Given the description of an element on the screen output the (x, y) to click on. 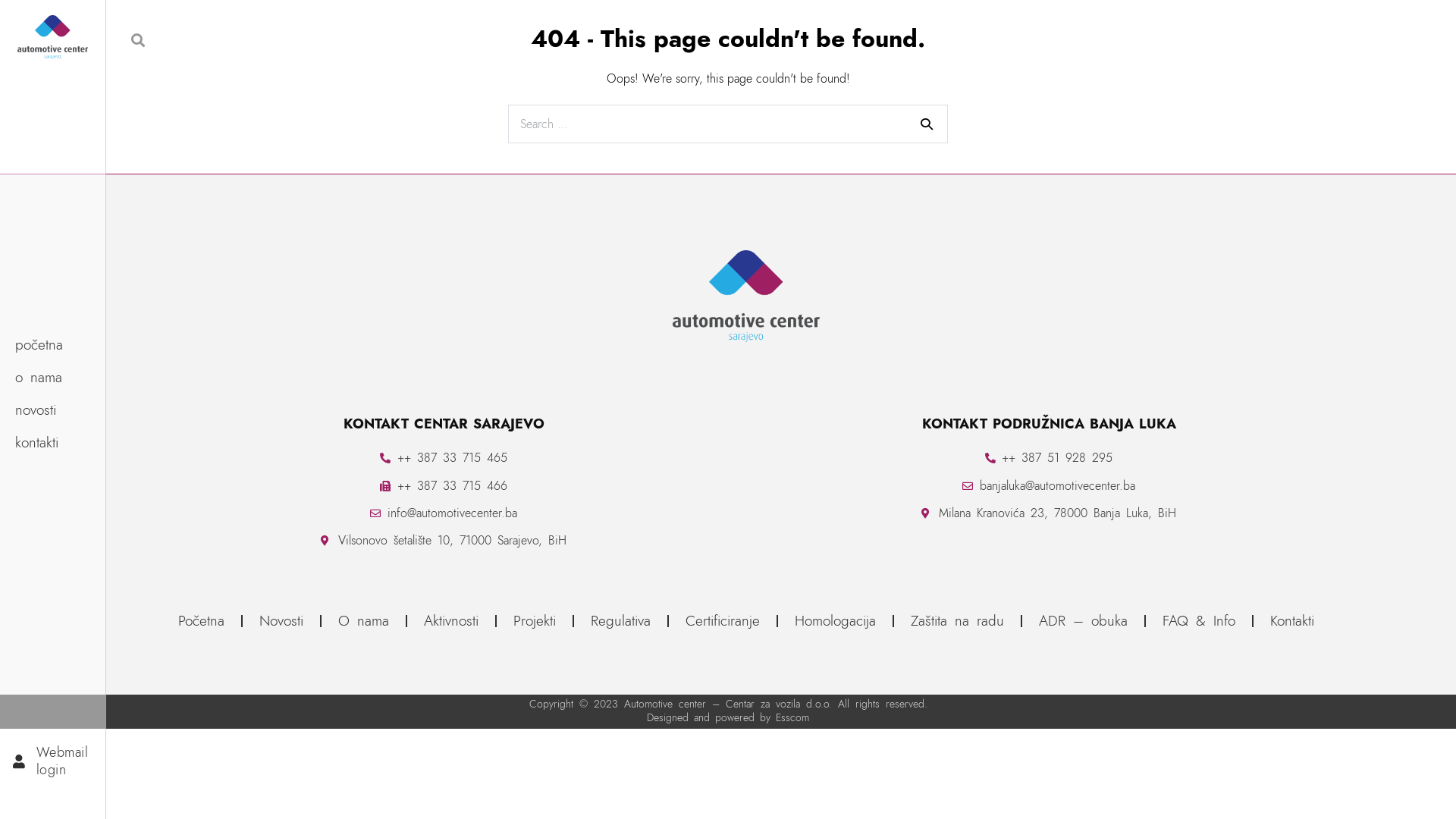
Regulativa Element type: text (620, 620)
++ 387 33 715 466 Element type: text (443, 485)
info@automotivecenter.ba Element type: text (443, 512)
novosti Element type: text (57, 409)
Novosti Element type: text (281, 620)
Kontakti Element type: text (1292, 620)
++ 387 51 928 295 Element type: text (1048, 457)
Search Element type: text (926, 123)
FAQ & Info Element type: text (1198, 620)
Certificiranje Element type: text (722, 620)
Webmail
login Element type: text (48, 760)
O nama Element type: text (363, 620)
kontakti Element type: text (57, 442)
Homologacija Element type: text (834, 620)
++ 387 33 715 465 Element type: text (443, 457)
Esscom Element type: text (792, 716)
Aktivnosti Element type: text (451, 620)
o nama Element type: text (57, 376)
Projekti Element type: text (534, 620)
banjaluka@automotivecenter.ba Element type: text (1048, 485)
Press enter to search Element type: hover (727, 123)
